Given the description of an element on the screen output the (x, y) to click on. 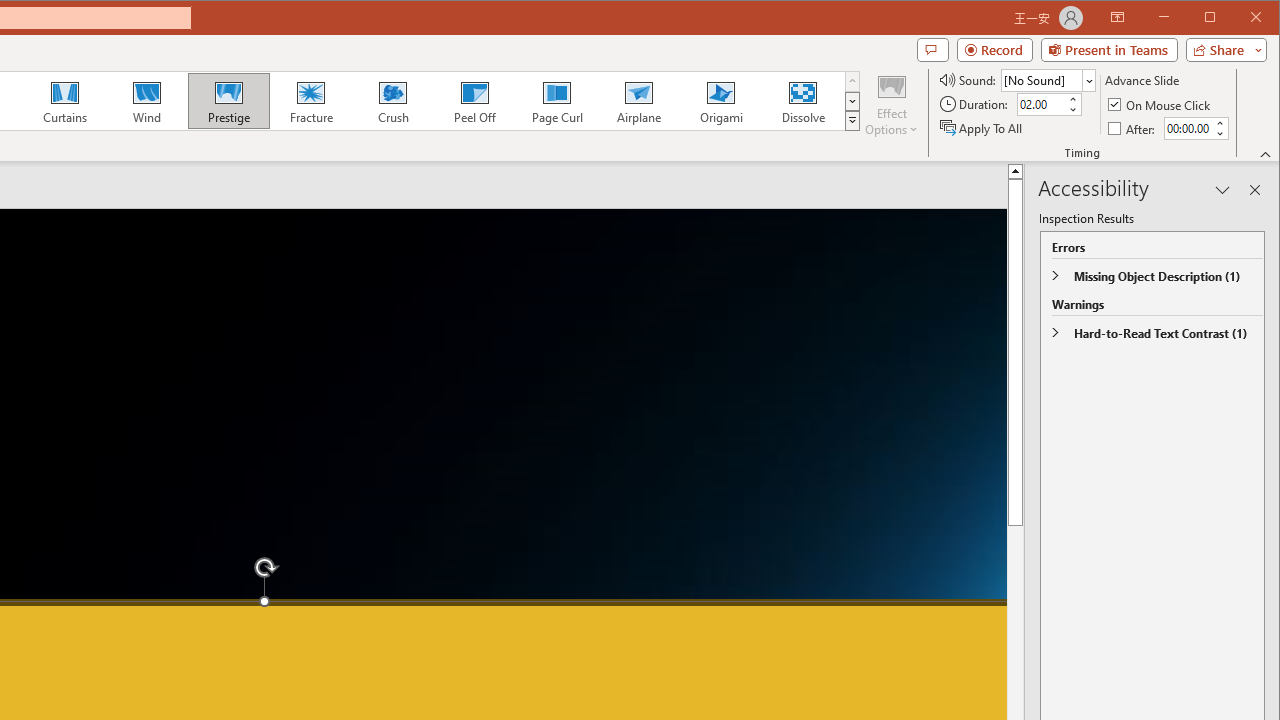
Airplane (638, 100)
Page Curl (556, 100)
Peel Off (474, 100)
Dissolve (802, 100)
After (1187, 128)
Duration (1040, 104)
Prestige (229, 100)
